Given the description of an element on the screen output the (x, y) to click on. 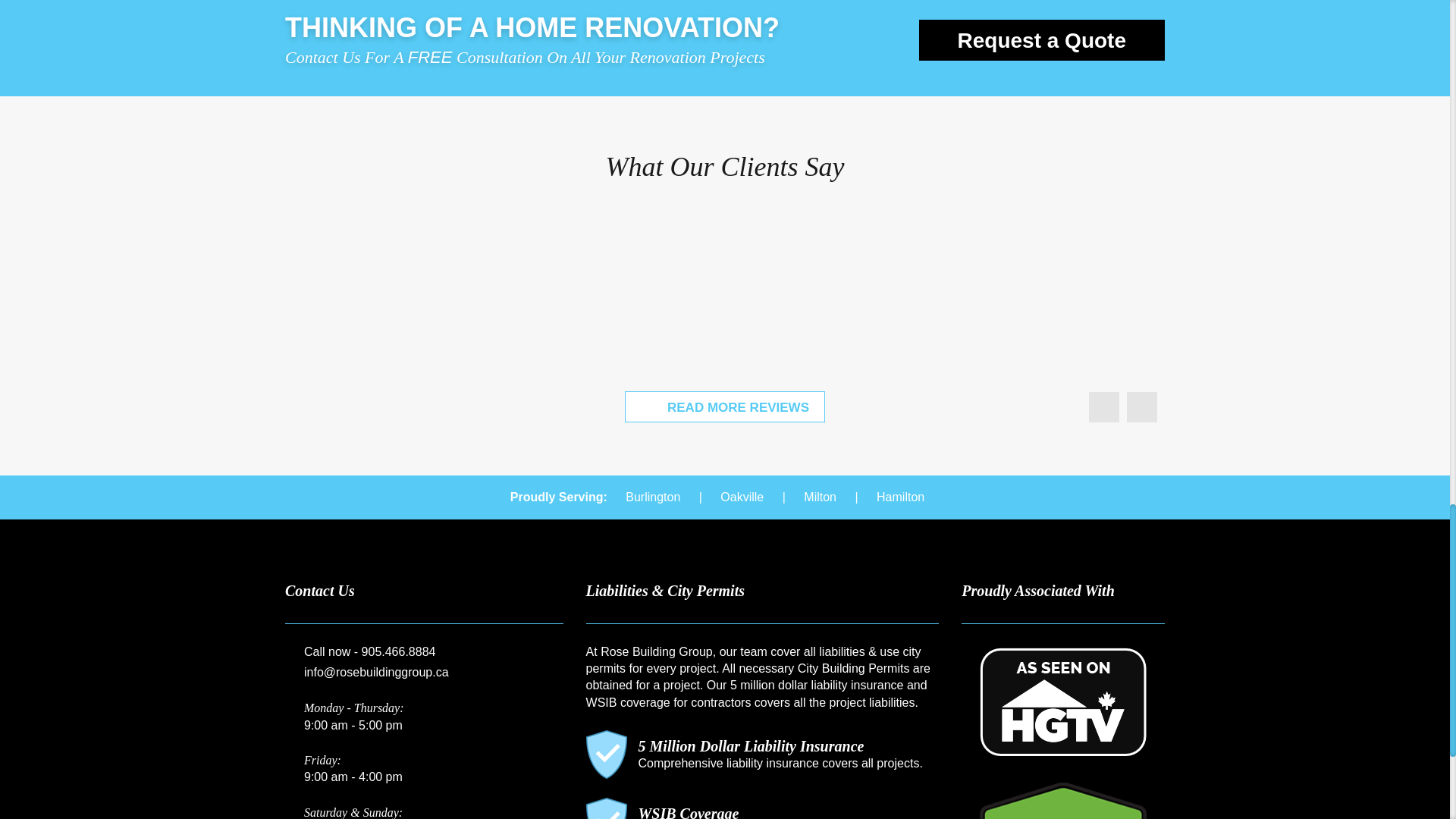
Burlington (652, 495)
Request a Quote (1041, 39)
READ MORE REVIEWS (724, 406)
Milton (819, 495)
Oakville (741, 495)
Hamilton (900, 495)
905.466.8884 (398, 651)
